Given the description of an element on the screen output the (x, y) to click on. 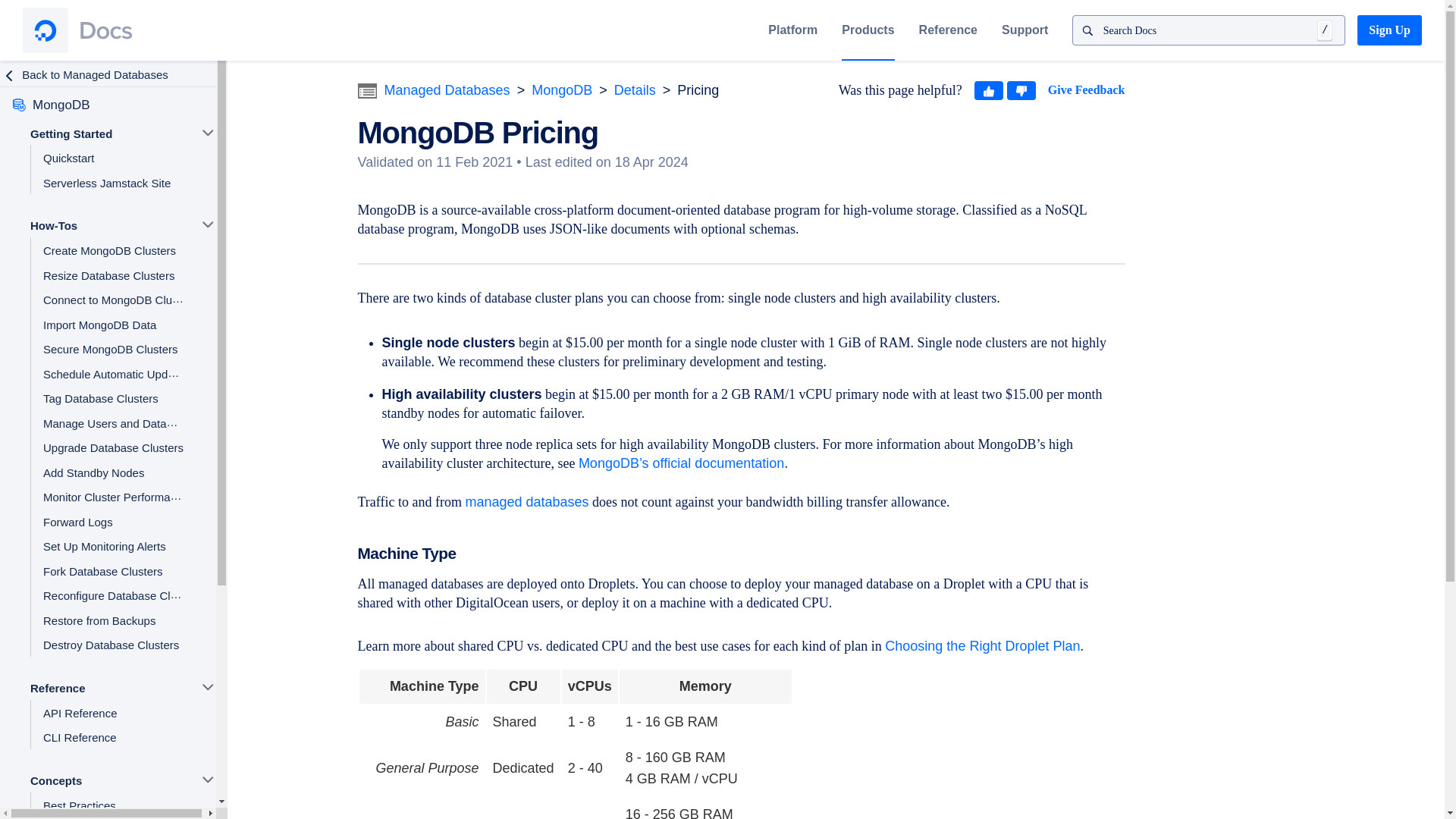
Import MongoDB Data (113, 324)
Create MongoDB Clusters (113, 249)
How-Tos (106, 224)
Secure MongoDB Clusters (113, 348)
Getting Started (106, 132)
Set Up Monitoring Alerts (113, 545)
Back to Managed Databases (100, 73)
Reference (947, 30)
Quickstart (113, 156)
Fork Database Clusters (113, 570)
